Given the description of an element on the screen output the (x, y) to click on. 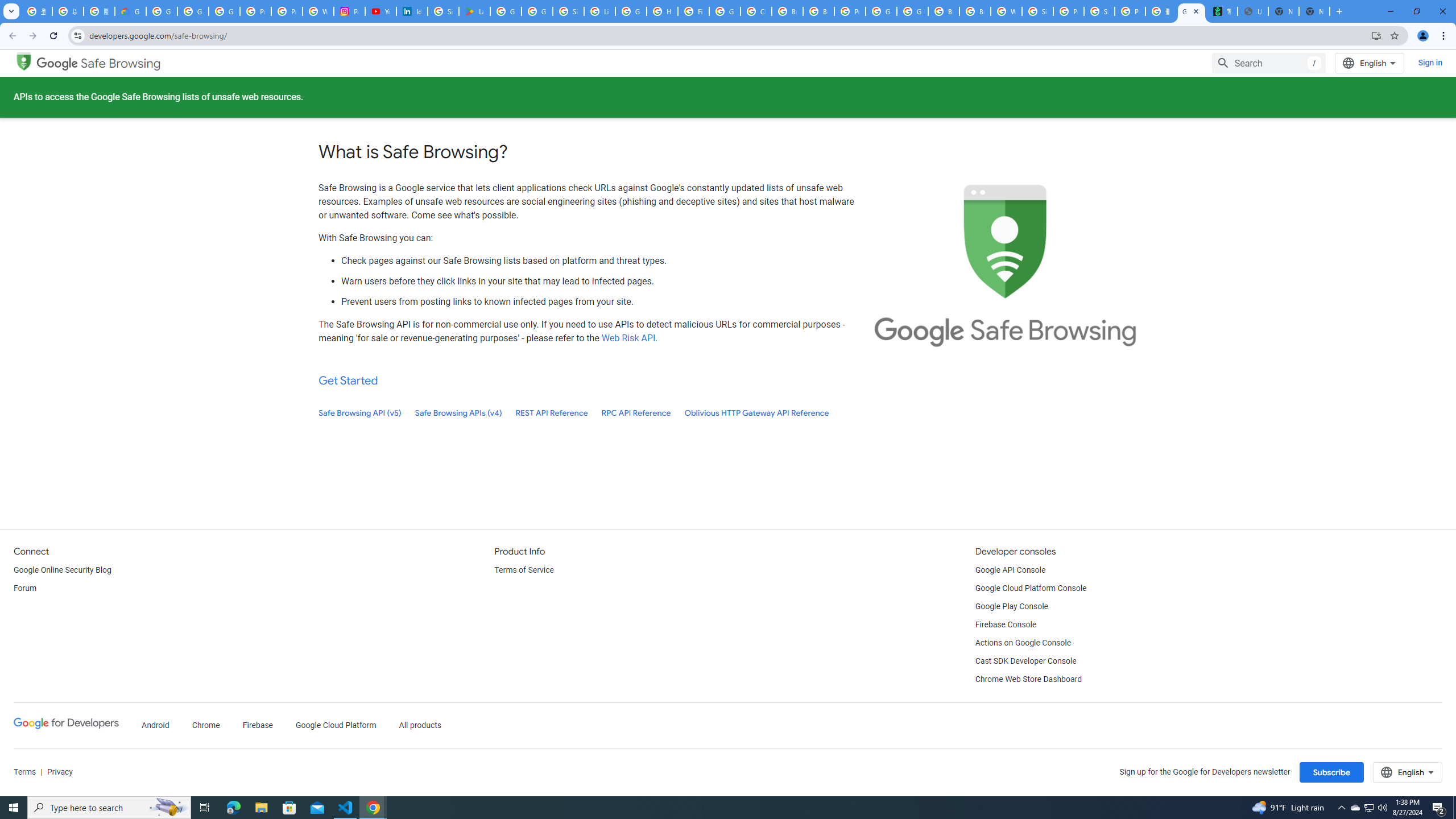
Safe Browsing API (v5) (360, 412)
English (1407, 772)
Google Developers (66, 723)
Firebase Console (1005, 624)
YouTube Culture & Trends - On The Rise: Handcam Videos (380, 11)
Install Google Developers (1376, 35)
Browse Chrome as a guest - Computer - Google Chrome Help (943, 11)
